Given the description of an element on the screen output the (x, y) to click on. 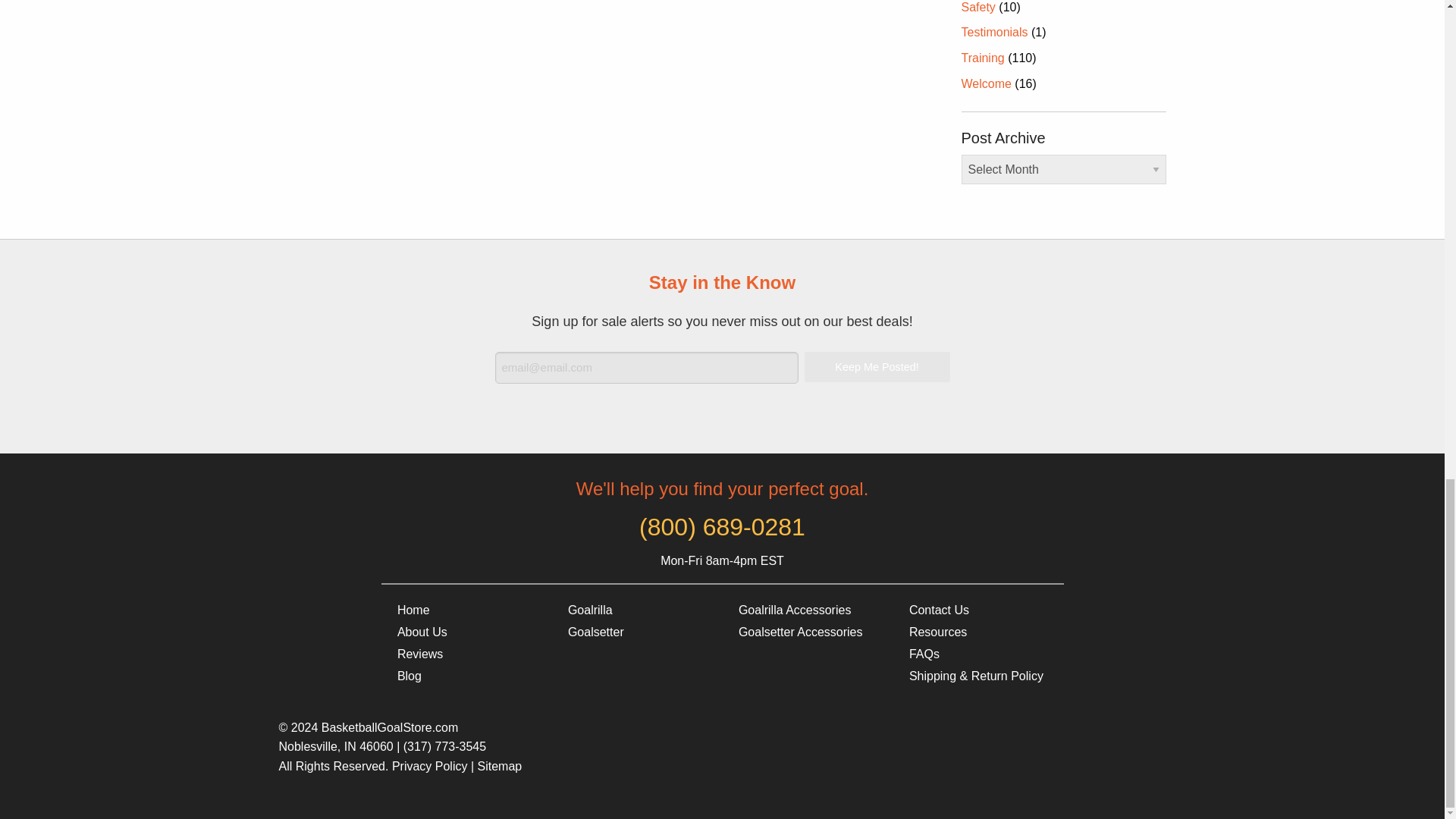
Blog (466, 676)
BasketballGoalStore.com (466, 610)
BasketballGoalStore.com Reviews (466, 653)
Goalrilla (636, 610)
Goalsetter (636, 632)
Keep Me Posted! (876, 367)
